Given the description of an element on the screen output the (x, y) to click on. 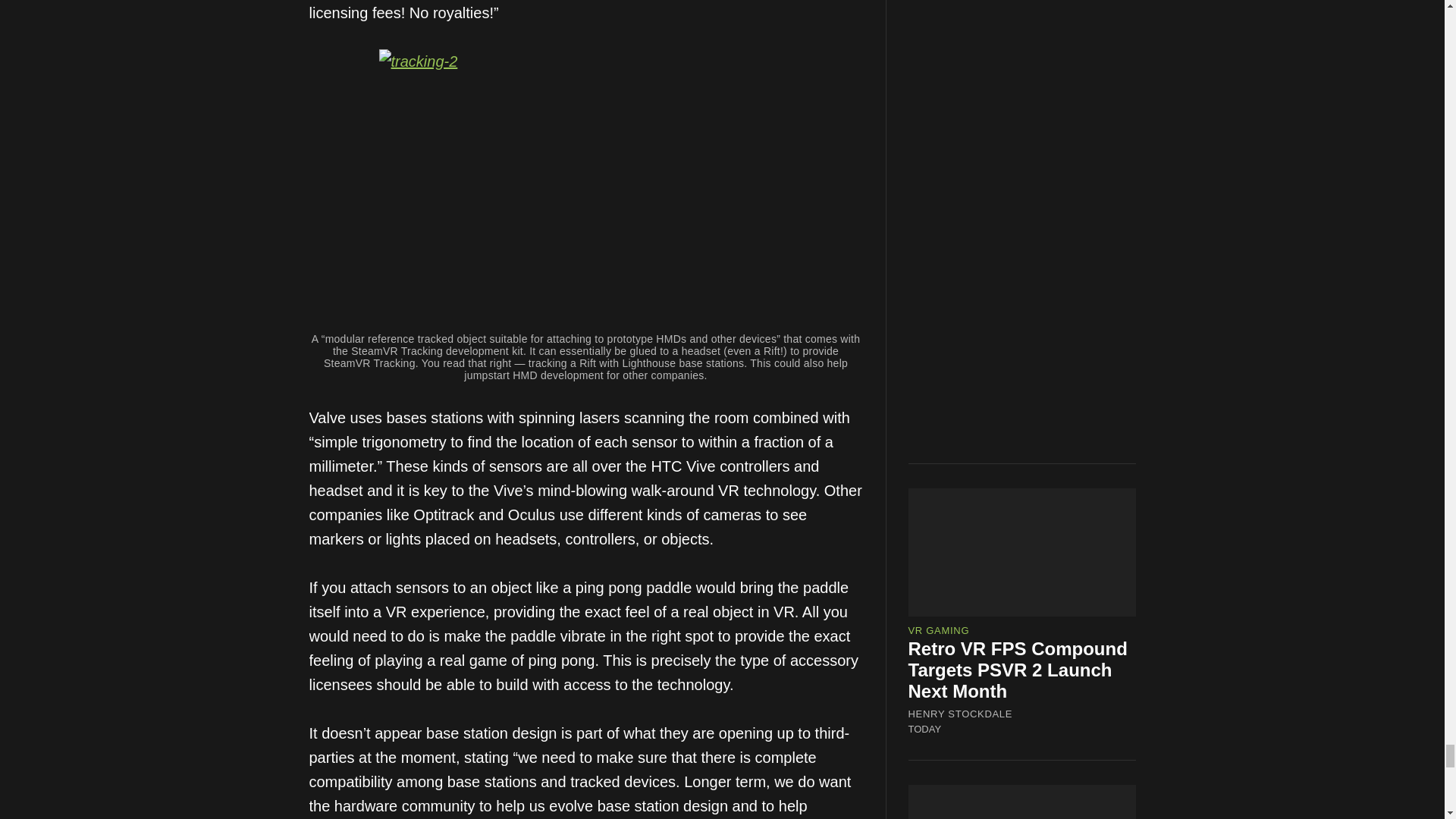
HENRY STOCKDALE (960, 357)
JASON COLES (946, 654)
Retro VR FPS Compound Targets PSVR 2 Launch Next Month (1017, 312)
VR GAMING (938, 274)
Living Room Turns Your Home Into An MR Animal Sanctuary (1016, 609)
